Given the description of an element on the screen output the (x, y) to click on. 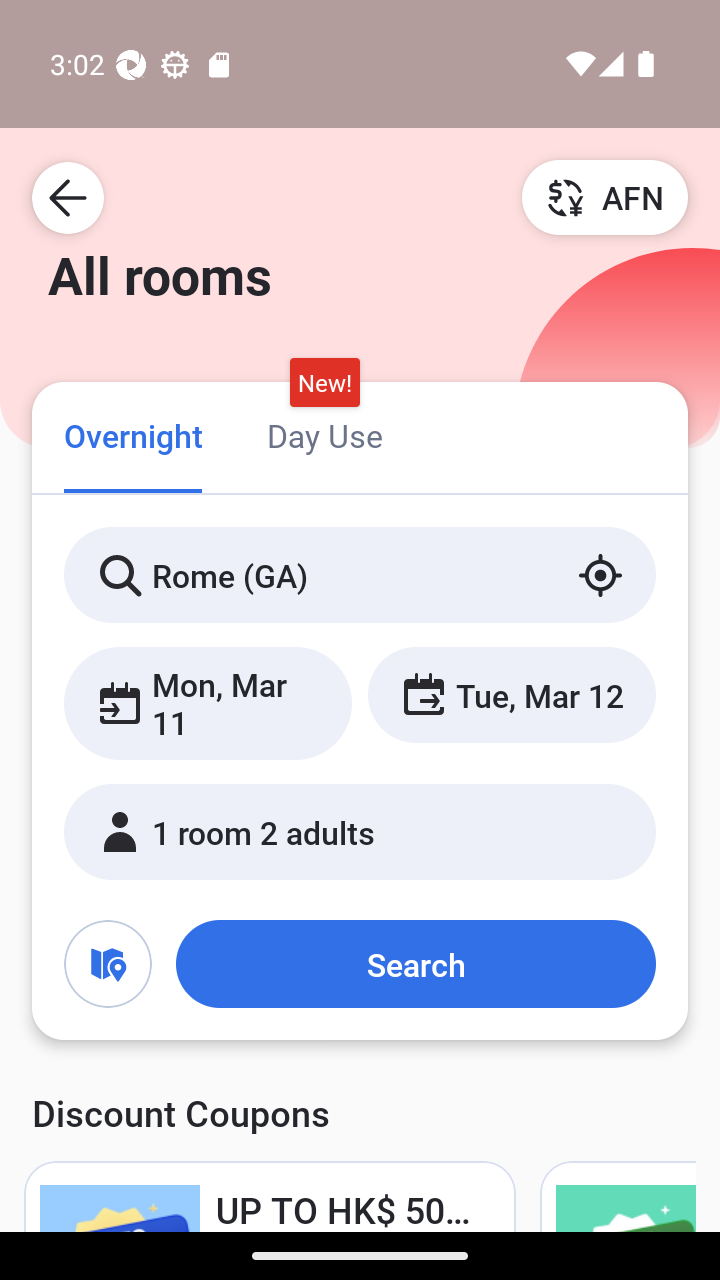
AFN (605, 197)
New! (324, 383)
Day Use (324, 434)
Rome (GA) (359, 575)
Mon, Mar 11 (208, 703)
Tue, Mar 12 (511, 694)
1 room 2 adults (359, 831)
Search (415, 964)
